Given the description of an element on the screen output the (x, y) to click on. 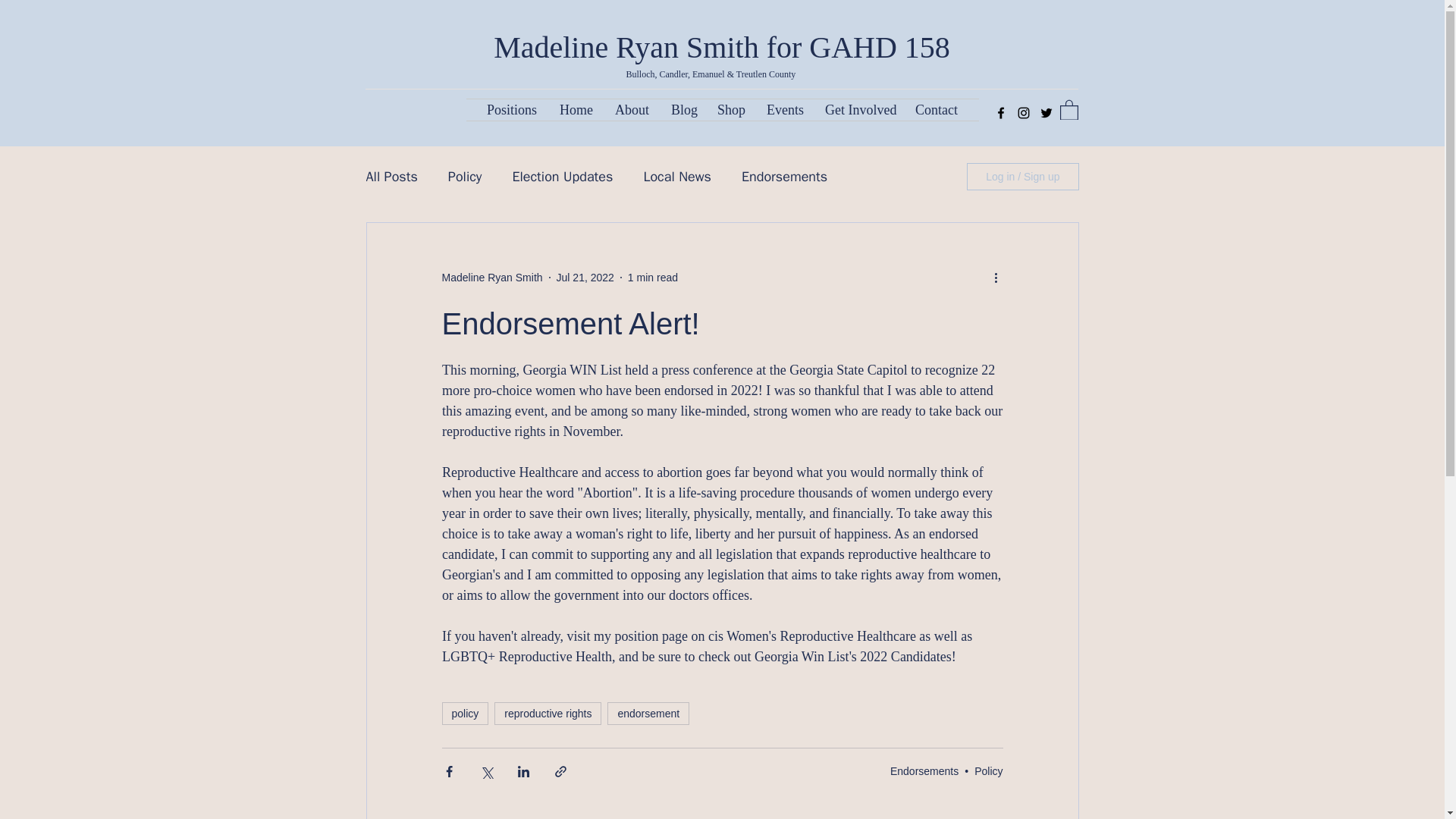
Endorsements (923, 770)
Local News (677, 176)
Jul 21, 2022 (585, 277)
Endorsements (784, 176)
Positions (512, 109)
All Posts (390, 176)
Events (784, 109)
Policy (464, 176)
Shop (730, 109)
Get Involved (858, 109)
Madeline Ryan Smith (491, 277)
endorsement (647, 712)
Election Updates (562, 176)
reproductive rights (548, 712)
1 min read (652, 277)
